Given the description of an element on the screen output the (x, y) to click on. 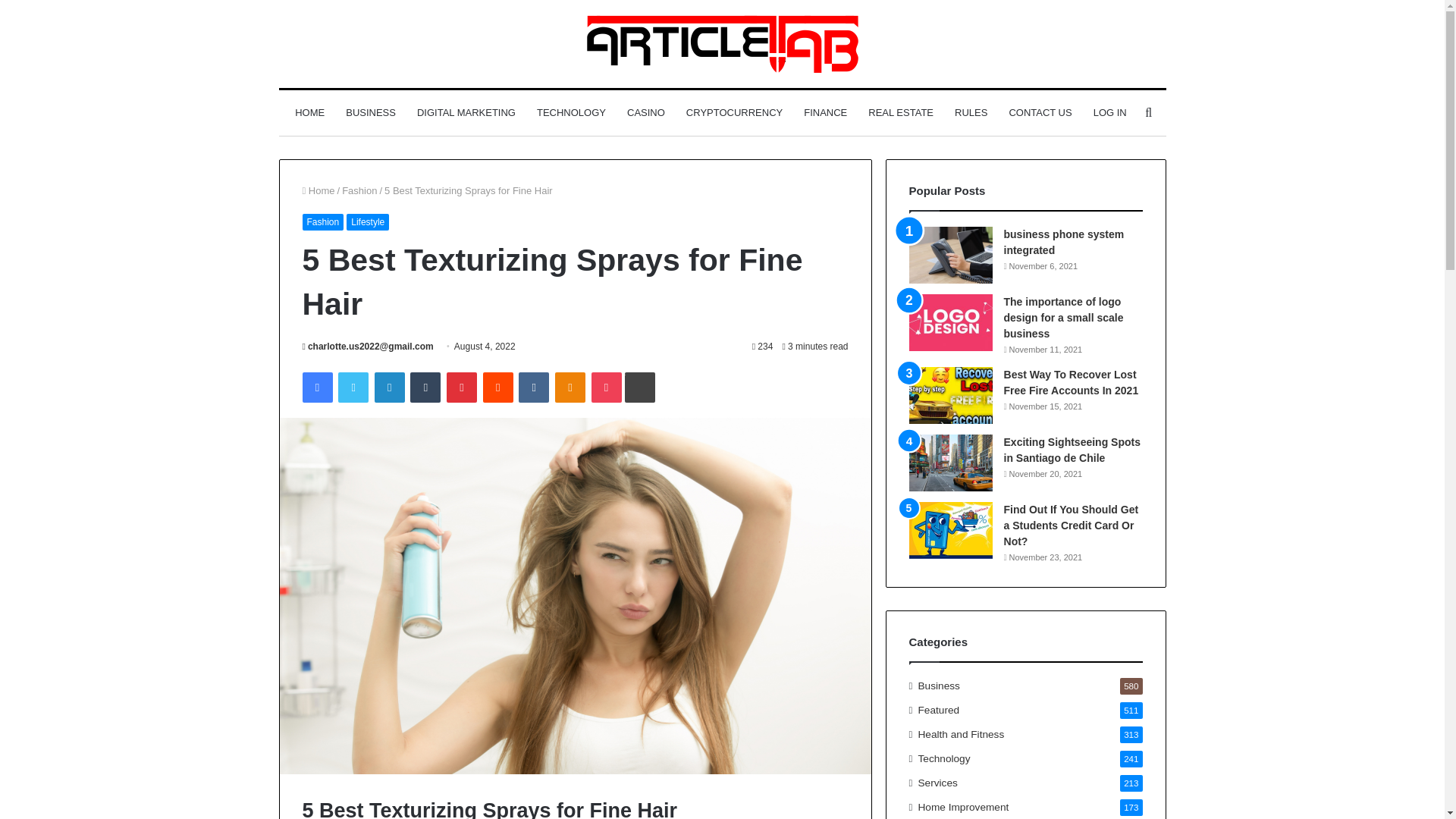
REAL ESTATE (900, 112)
DIGITAL MARKETING (465, 112)
CONTACT US (1039, 112)
LOG IN (1110, 112)
VKontakte (533, 387)
Twitter (352, 387)
Pinterest (461, 387)
Article Tab (722, 43)
BUSINESS (370, 112)
Pinterest (461, 387)
Tumblr (425, 387)
Facebook (316, 387)
LinkedIn (389, 387)
TECHNOLOGY (570, 112)
Reddit (498, 387)
